Given the description of an element on the screen output the (x, y) to click on. 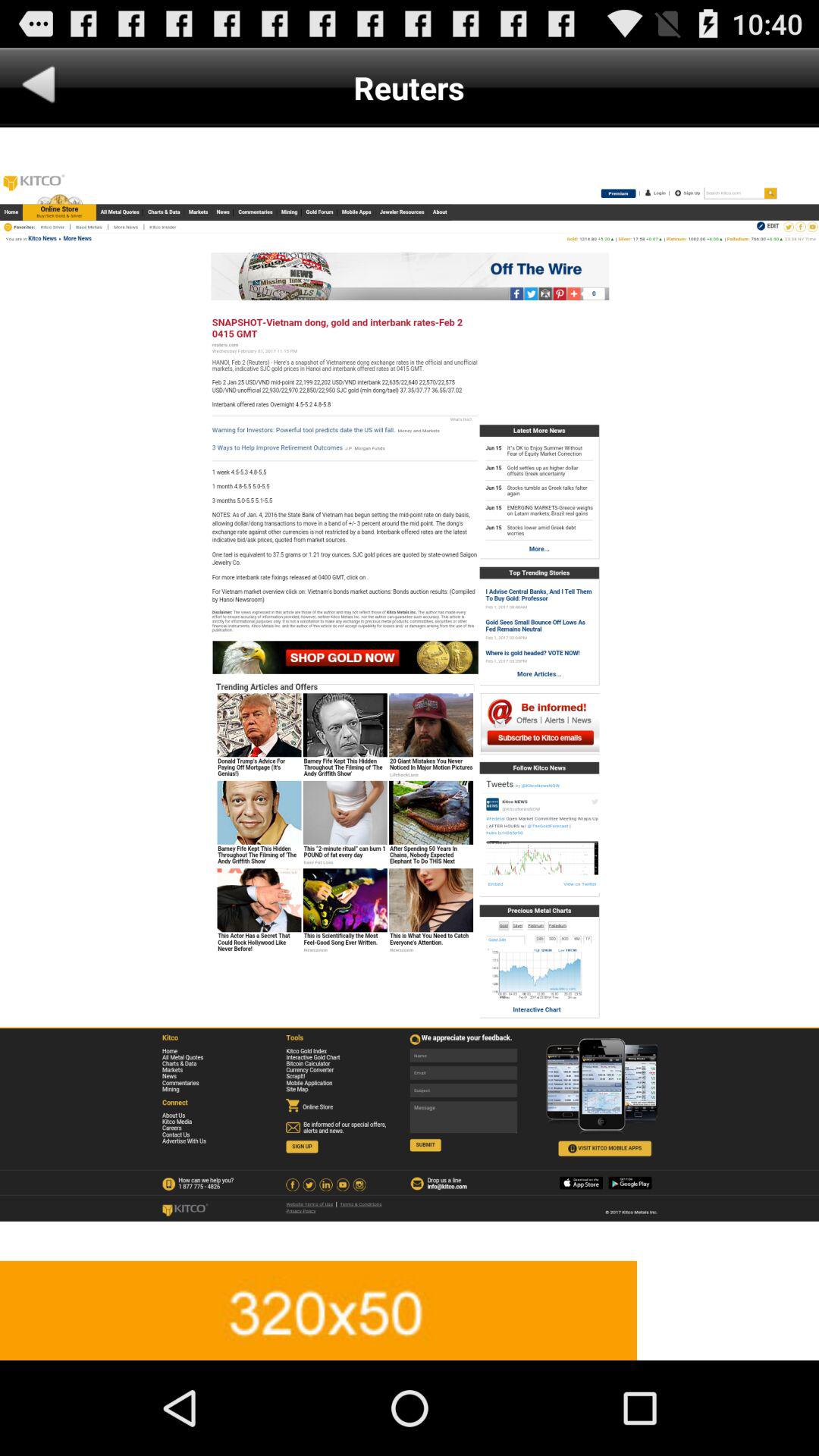
go to left (39, 87)
